Given the description of an element on the screen output the (x, y) to click on. 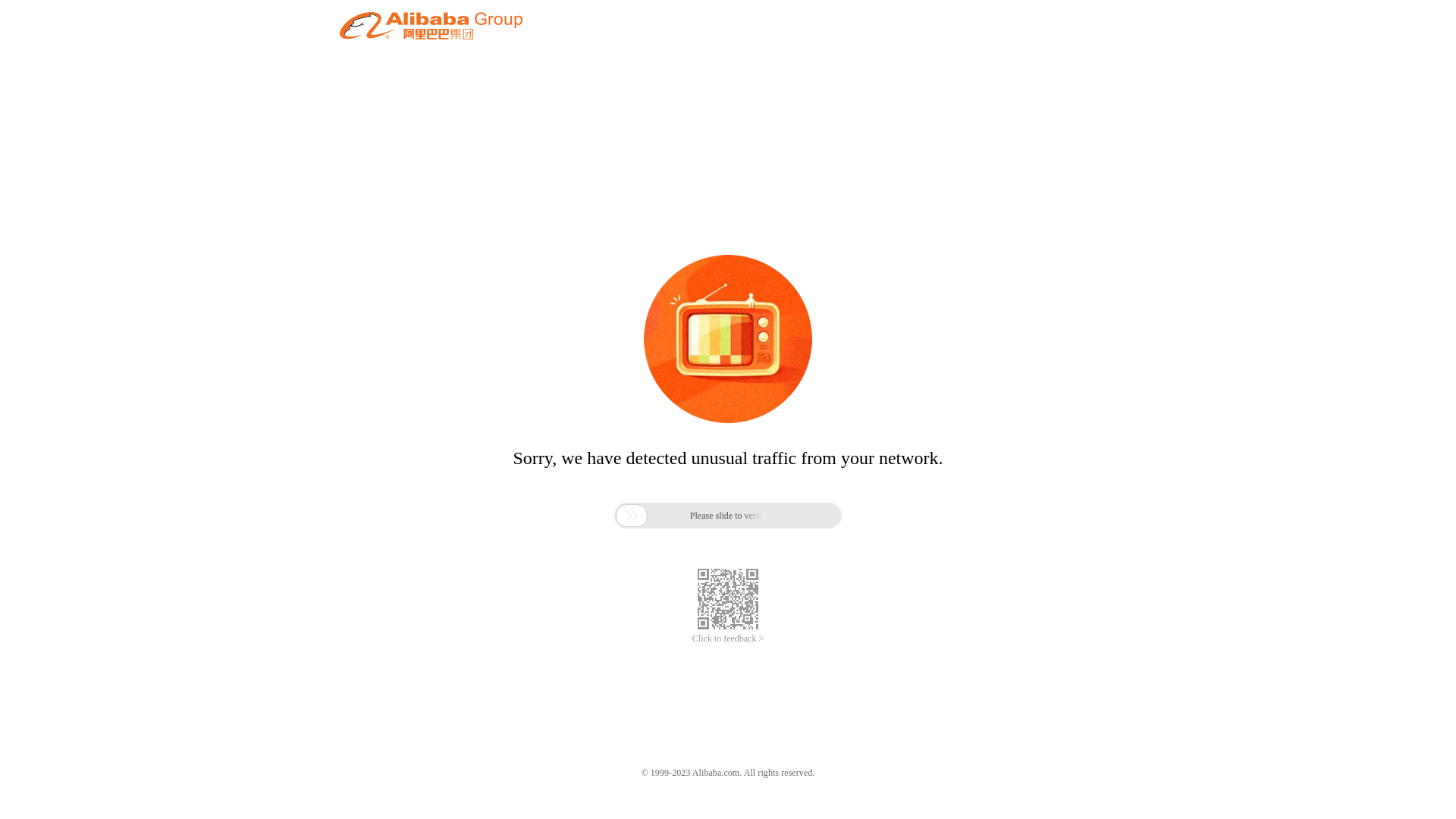
Click to feedback > Element type: text (727, 638)
